Given the description of an element on the screen output the (x, y) to click on. 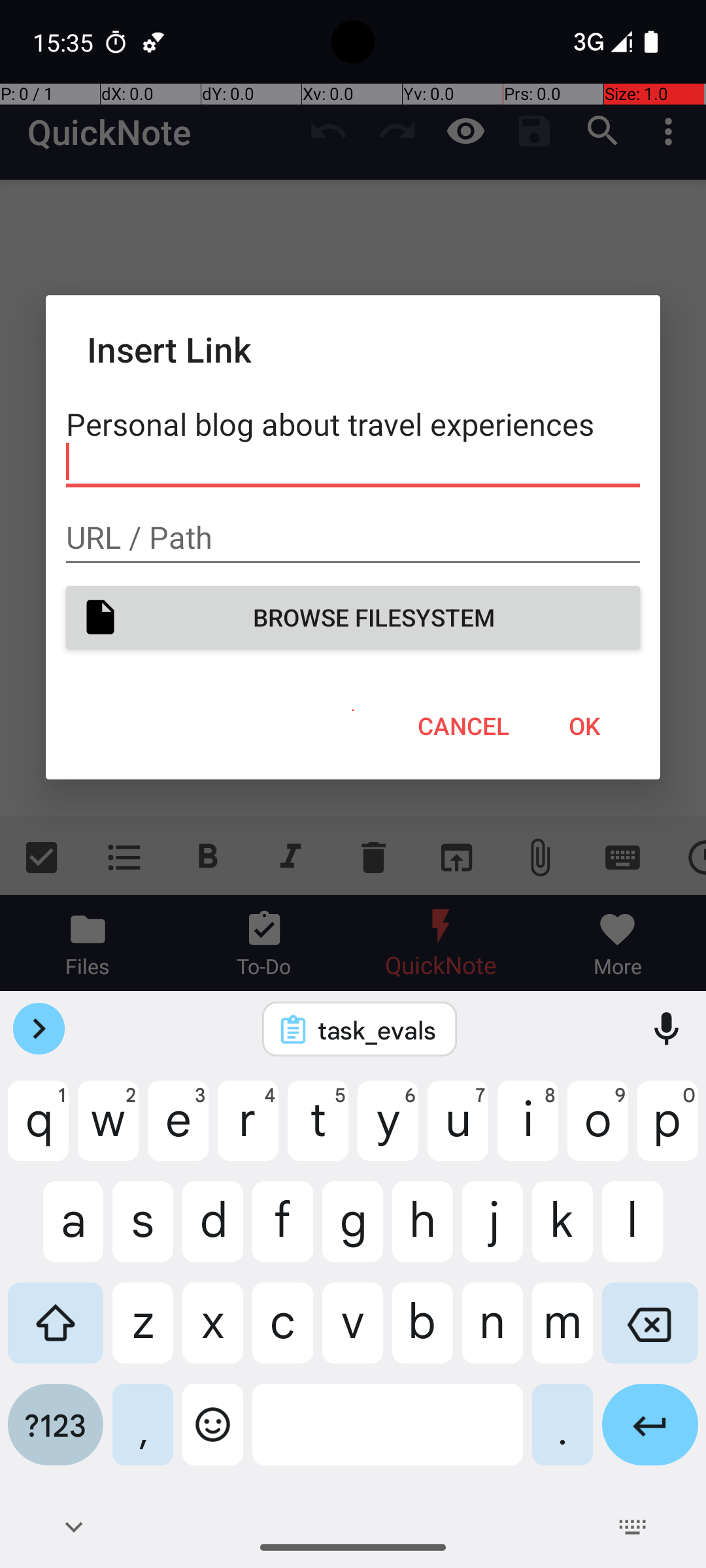
Personal blog about travel experiences
 Element type: android.widget.EditText (352, 442)
task_evals Element type: android.widget.TextView (376, 1029)
